Given the description of an element on the screen output the (x, y) to click on. 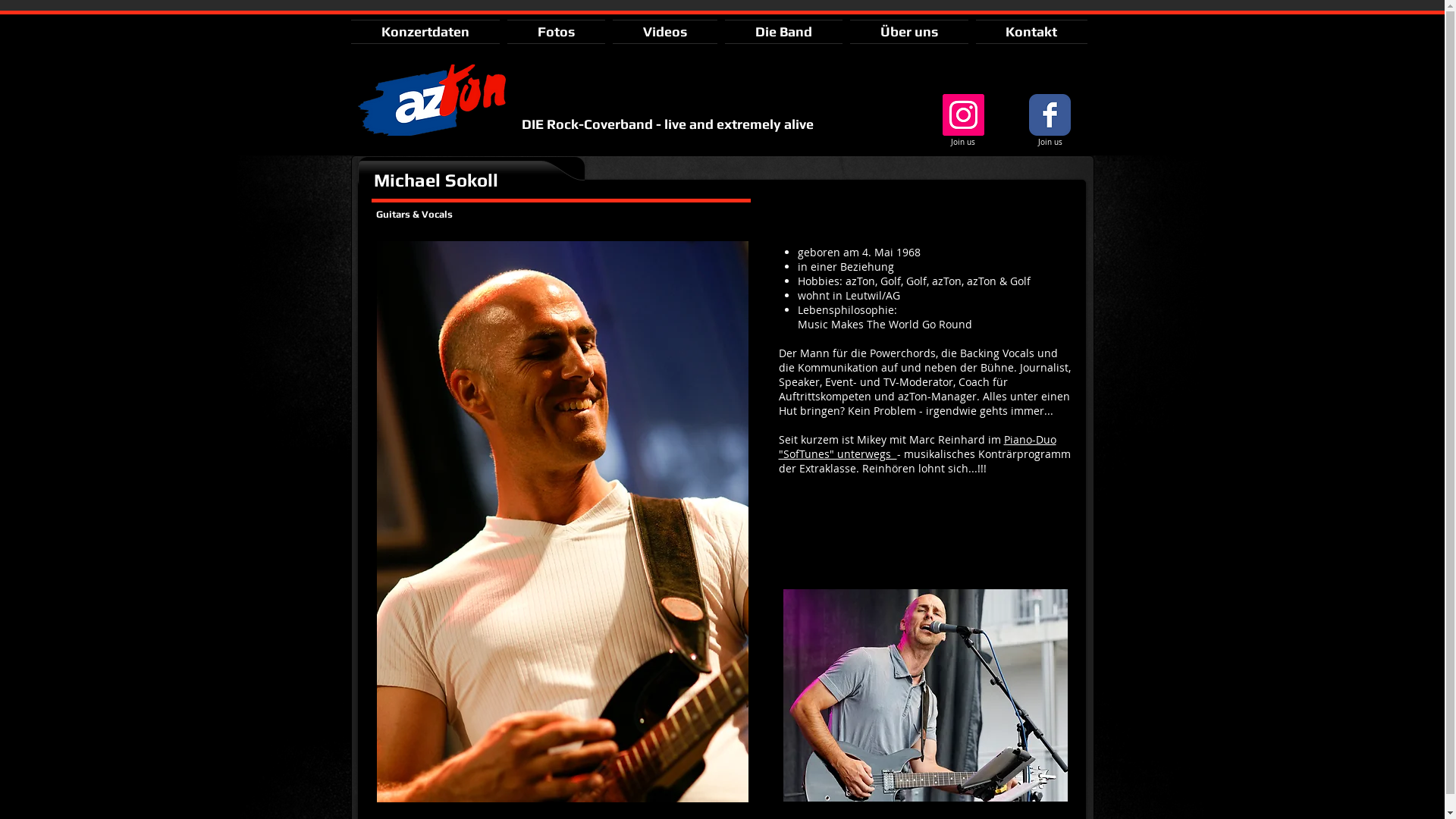
NAB_MaAnlass_2009-1316.jpg Element type: hover (561, 521)
Kontakt Element type: text (1029, 31)
transparent az weiss.png Element type: hover (431, 99)
1968 Element type: text (908, 251)
Videos Element type: text (664, 31)
Piano-Duo "SofTunes" unterwegs  Element type: text (916, 446)
Konzertdaten Element type: text (426, 31)
Fotos Element type: text (555, 31)
Die Band Element type: text (782, 31)
